Given the description of an element on the screen output the (x, y) to click on. 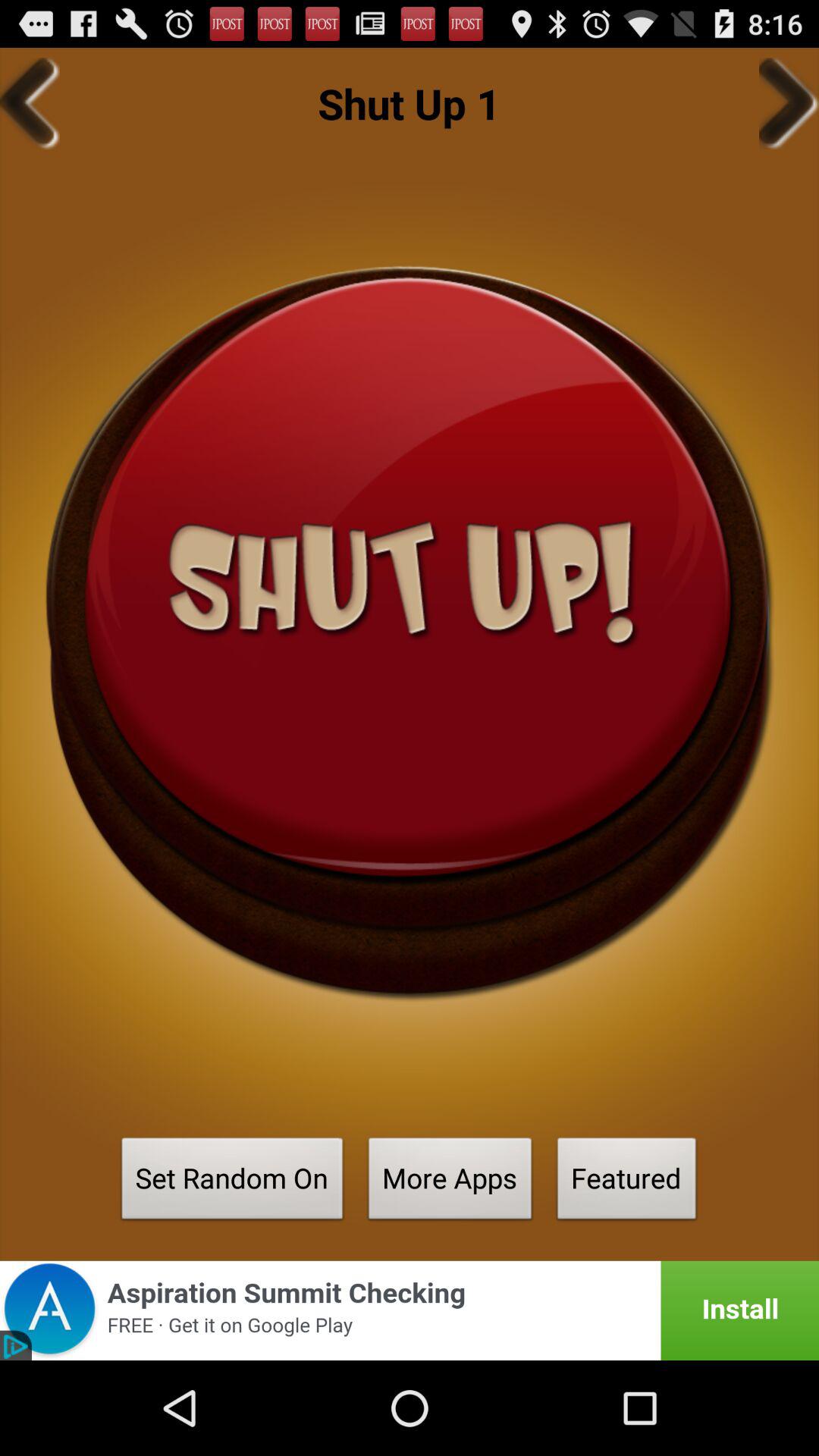
choose the item next to the shut up 1 (29, 103)
